Given the description of an element on the screen output the (x, y) to click on. 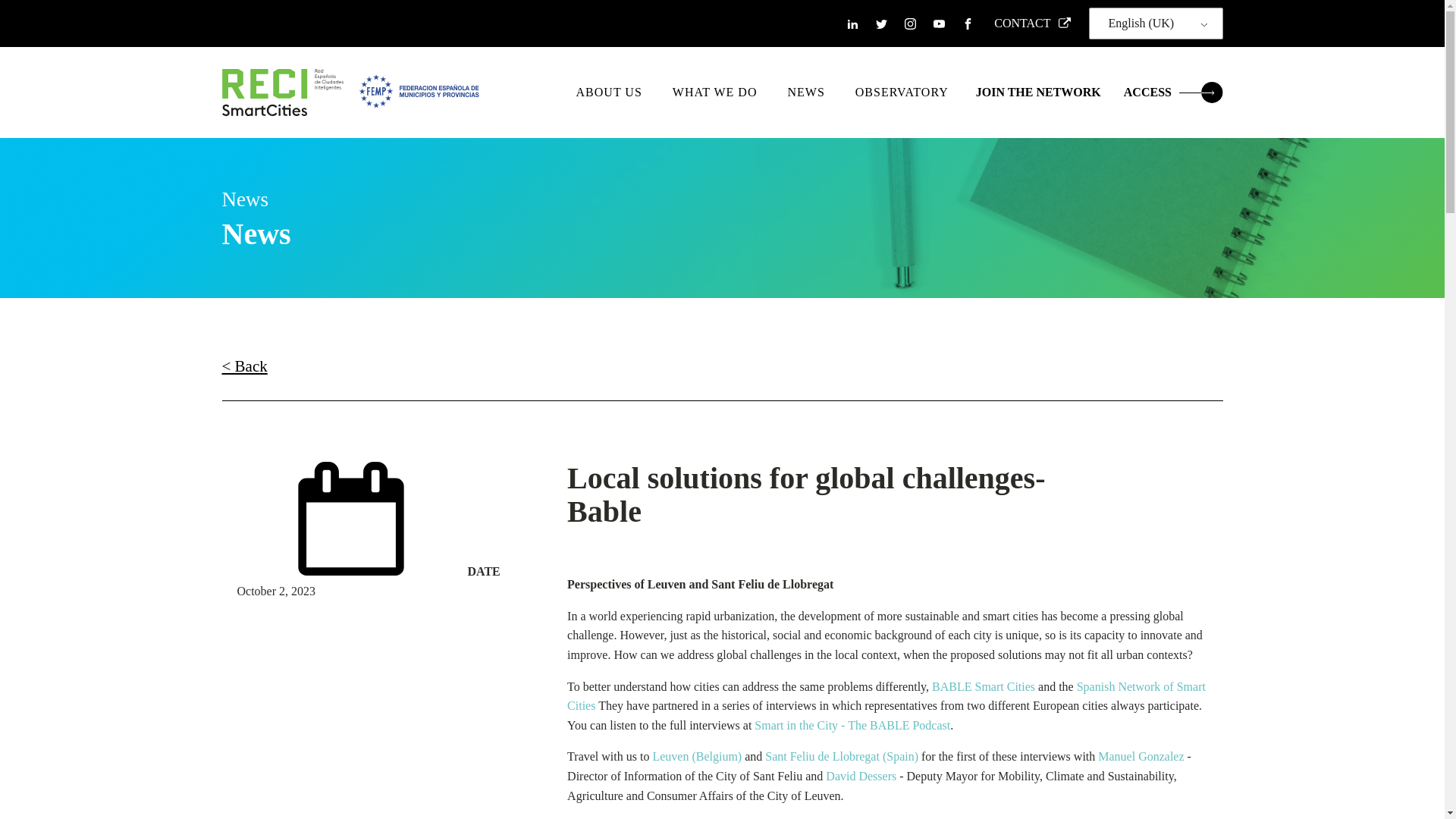
BABLE Smart Cities (983, 686)
David Dessers (860, 775)
ACCESS (1173, 92)
OBSERVATORY (901, 92)
Manuel Gonzalez (1140, 756)
Smart in the City - The BABLE Podcast (852, 725)
JOIN THE NETWORK (1037, 92)
Spanish Network of Smart Cities (886, 696)
CONTACT (1028, 23)
WHAT WE DO (715, 92)
NEWS (805, 92)
ABOUT US (609, 92)
